Given the description of an element on the screen output the (x, y) to click on. 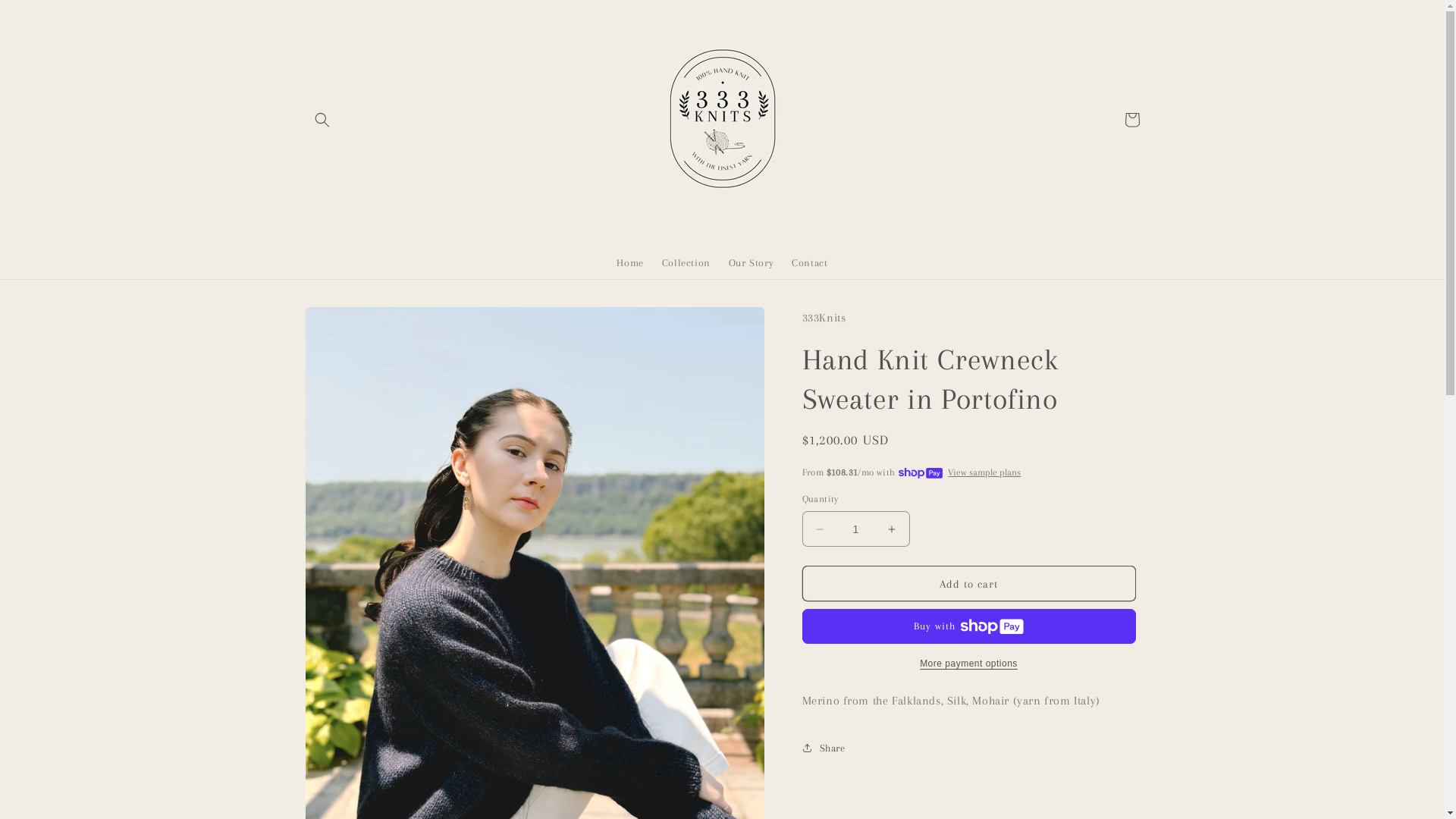
Our Story Element type: text (750, 263)
Add to cart Element type: text (968, 583)
More payment options Element type: text (968, 663)
Skip to product information Element type: text (350, 324)
Contact Element type: text (809, 263)
Home Element type: text (629, 263)
Cart Element type: text (1131, 119)
Collection Element type: text (685, 263)
